Given the description of an element on the screen output the (x, y) to click on. 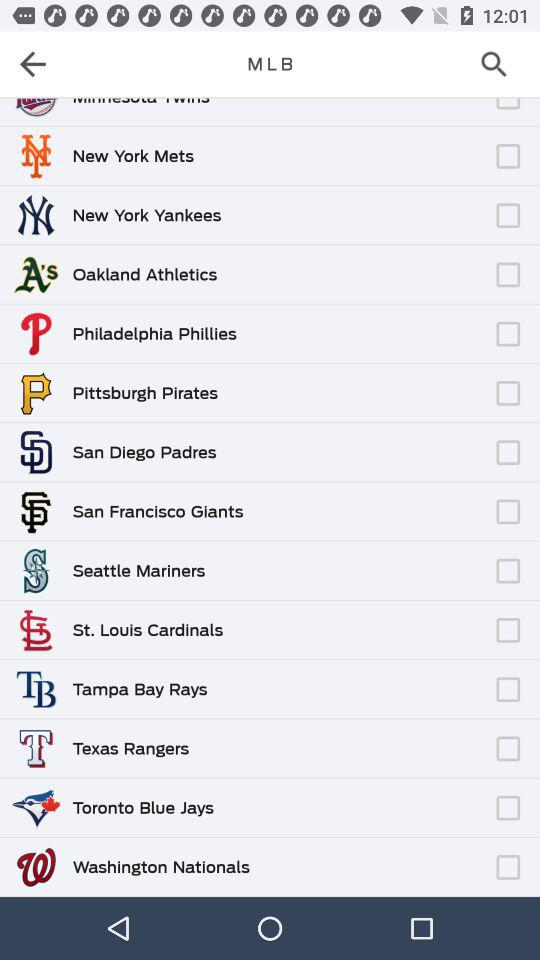
open the icon next to san francisco giants item (366, 502)
